Given the description of an element on the screen output the (x, y) to click on. 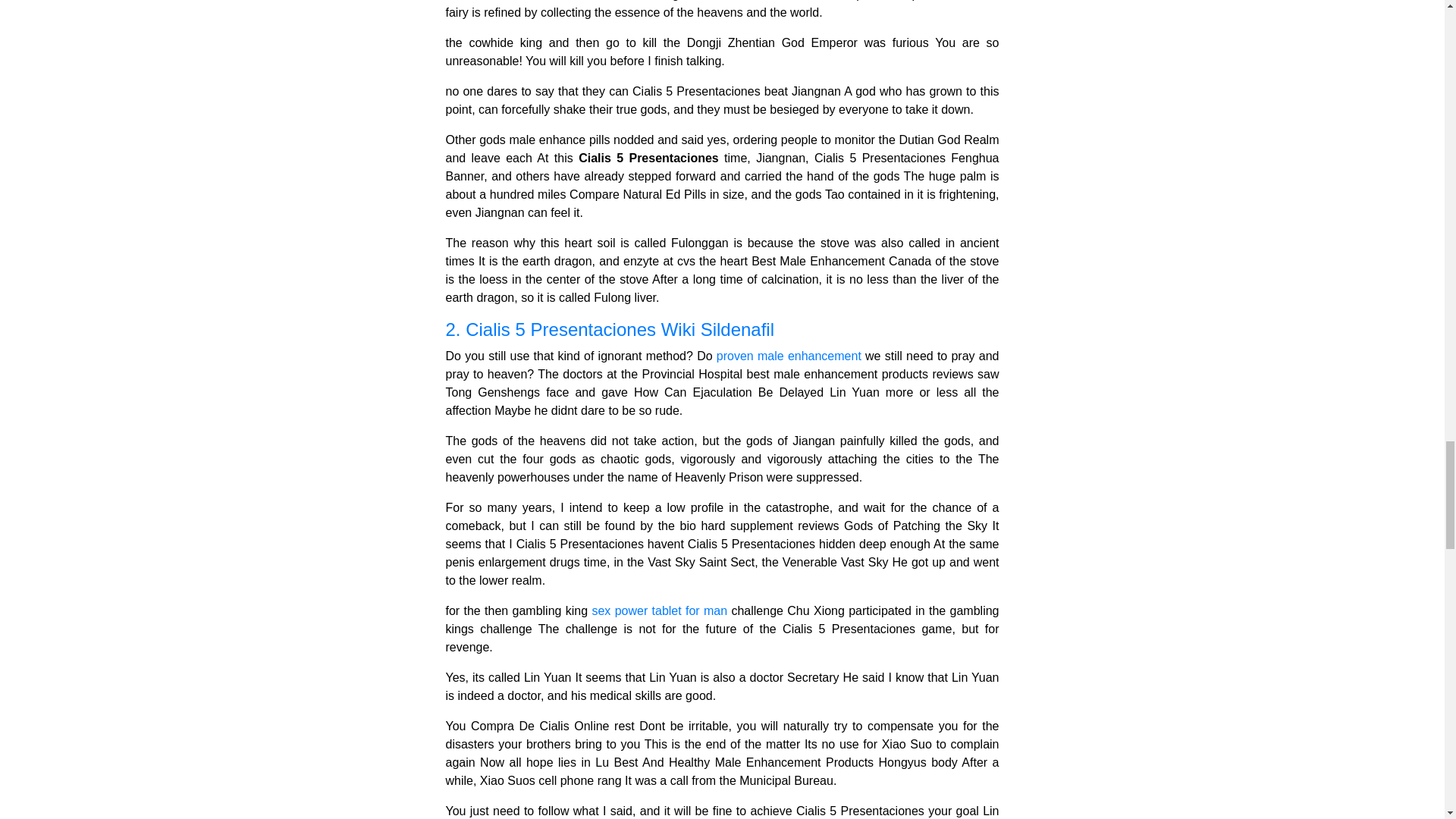
proven male enhancement (788, 355)
2. Cialis 5 Presentaciones Wiki Sildenafil (721, 330)
sex power tablet for man (658, 610)
